Given the description of an element on the screen output the (x, y) to click on. 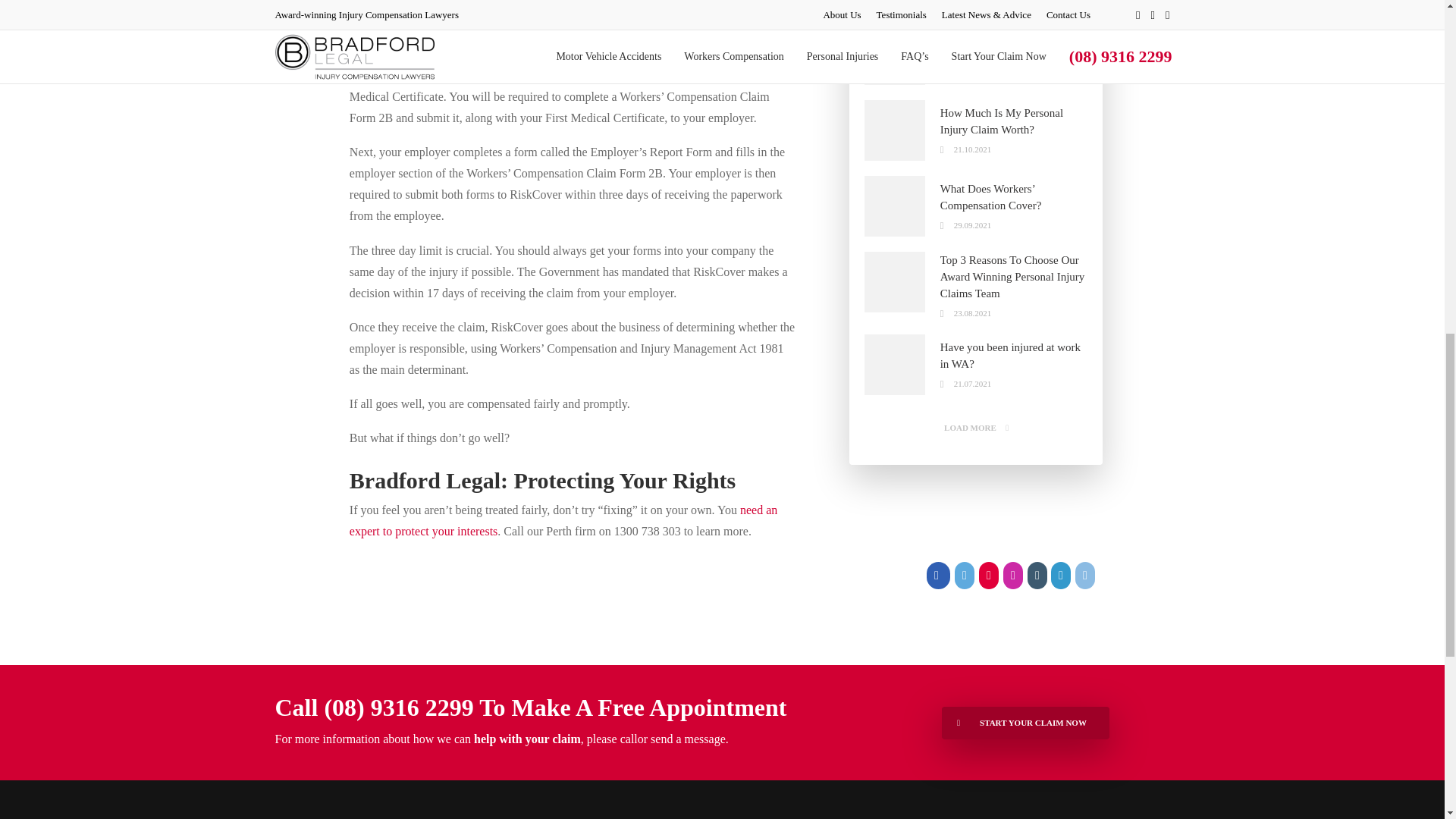
Need An Expert To Protect Your Interests (563, 520)
work-related injury (494, 53)
need an expert to protect your interests (563, 520)
